Given the description of an element on the screen output the (x, y) to click on. 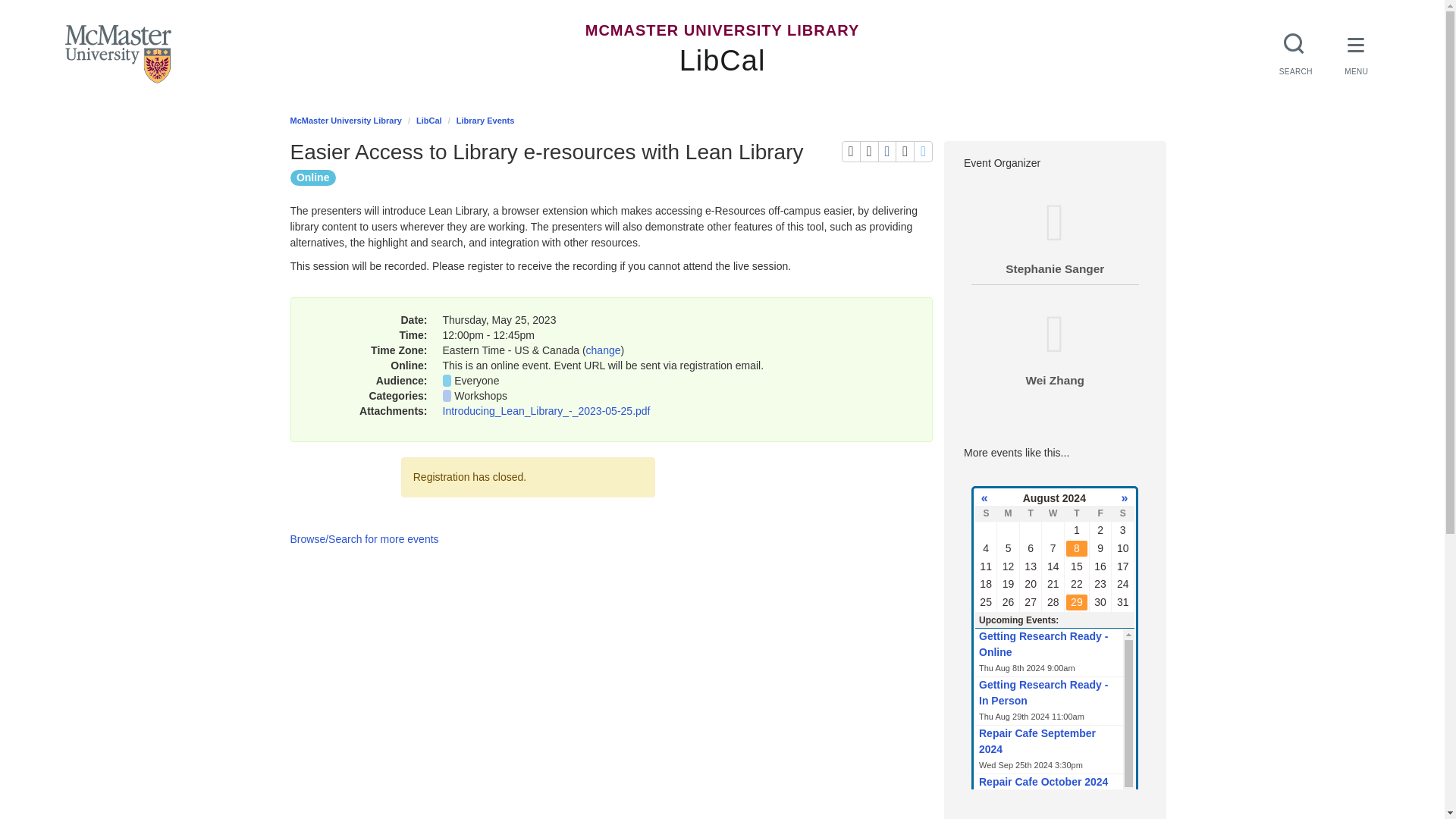
LibCal (722, 60)
SEARCH (1295, 51)
McMaster Univeristy Logo (118, 54)
MCMASTER LOGO (118, 55)
inurl:mcmaster.ca (829, 175)
MCMASTER UNIVERSITY LIBRARY (722, 30)
MENU (1356, 51)
inurl:libcal.mcmaster.ca (601, 175)
